Given the description of an element on the screen output the (x, y) to click on. 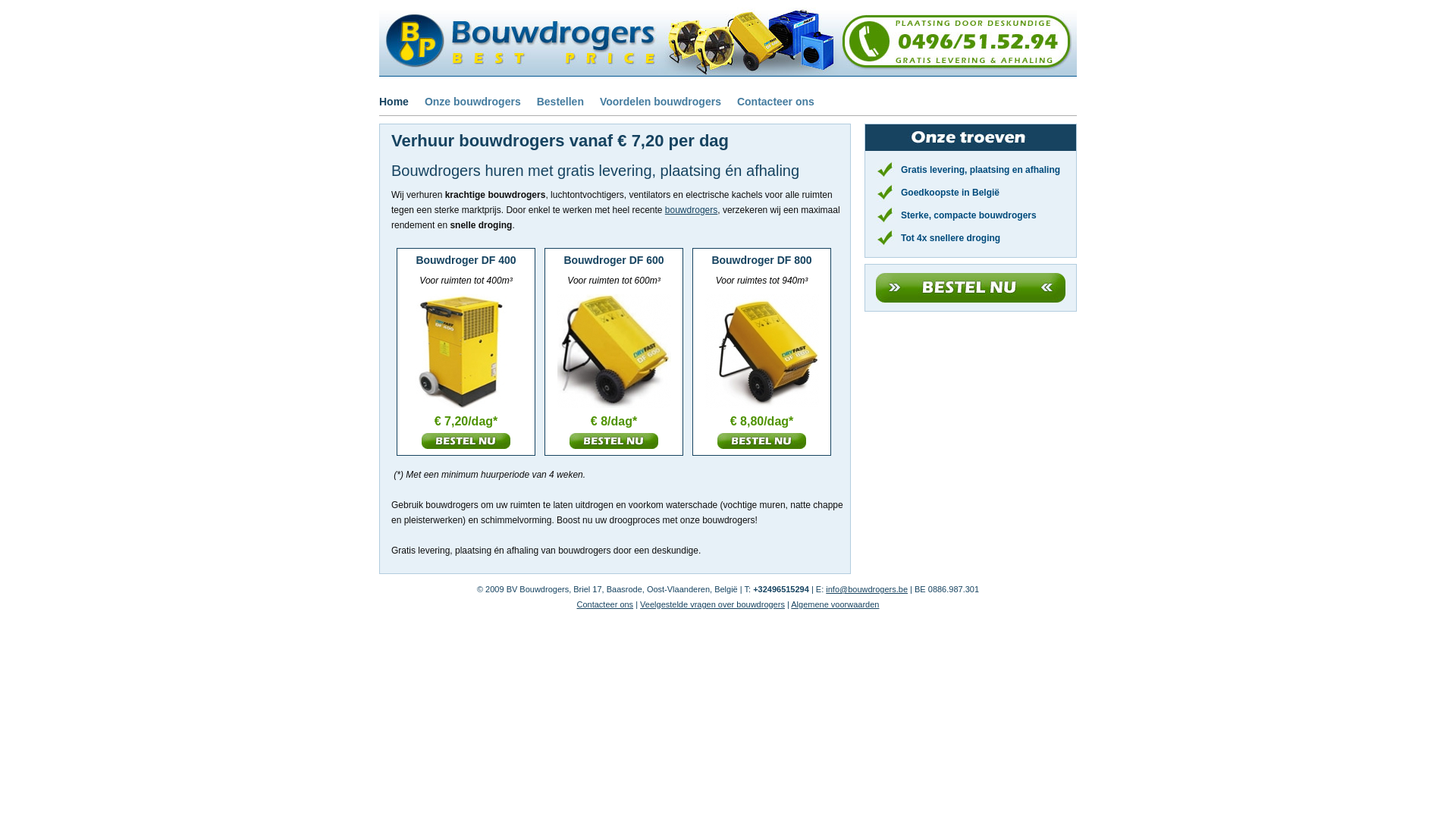
reserveer nu uw bouwdroger Element type: hover (970, 297)
Onze bouwdrogers Element type: text (472, 101)
bouwdroger dryfast 600 huren Element type: hover (613, 448)
Bestellen Element type: text (559, 101)
Contacteer ons Element type: text (775, 101)
Home Element type: text (393, 101)
bouwdroger dryfast 800 huren Element type: hover (761, 448)
bouwdroger dryfast 400 huren Element type: hover (465, 448)
Algemene voorwaarden Element type: text (834, 603)
info@bouwdrogers.be Element type: text (866, 588)
Voordelen bouwdrogers Element type: text (660, 101)
Veelgestelde vragen over bouwdrogers Element type: text (712, 603)
bouwdrogers Element type: text (691, 209)
Contacteer ons Element type: text (605, 603)
